Given the description of an element on the screen output the (x, y) to click on. 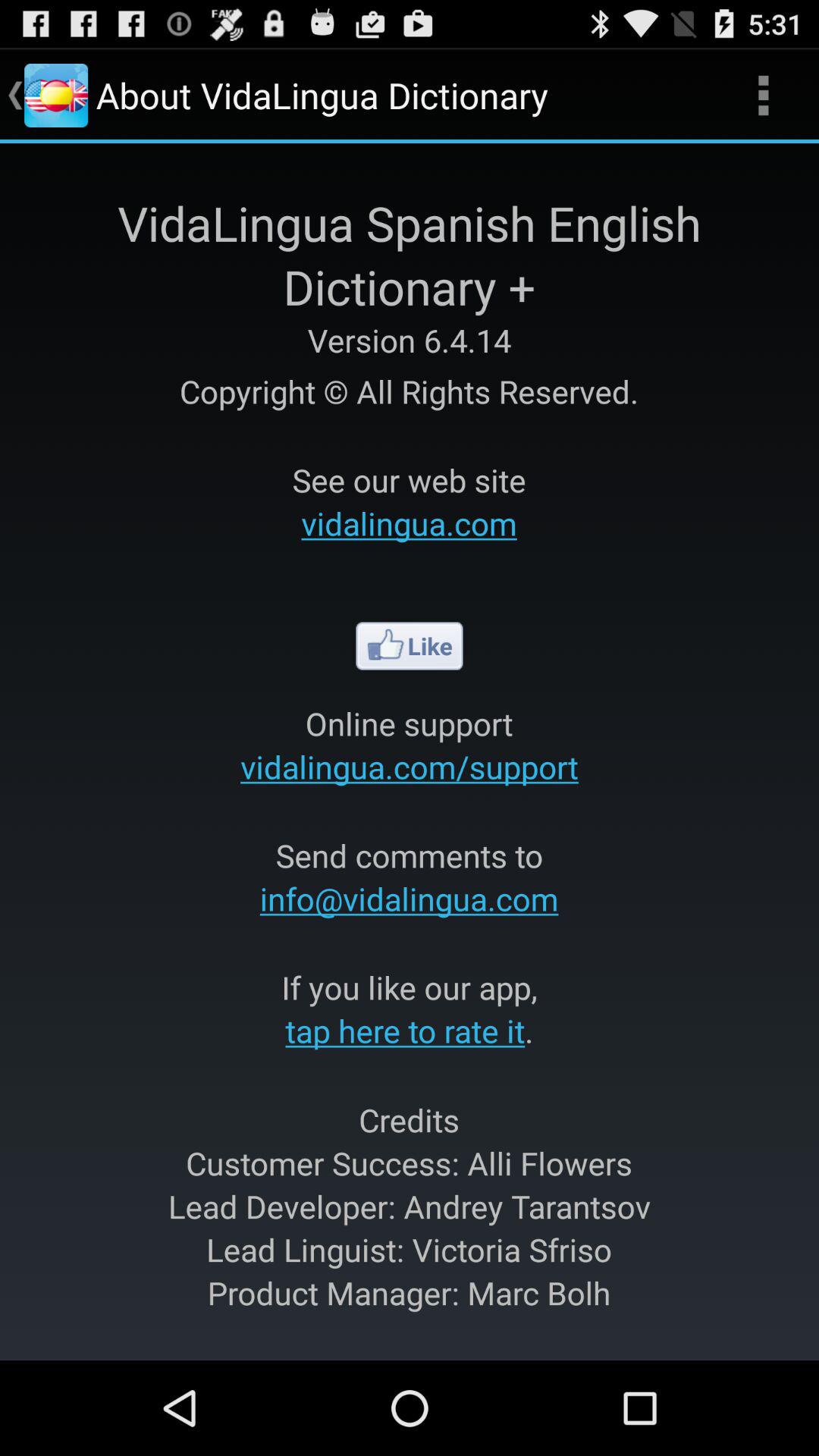
turn on item above vidalingua spanish english app (763, 95)
